Given the description of an element on the screen output the (x, y) to click on. 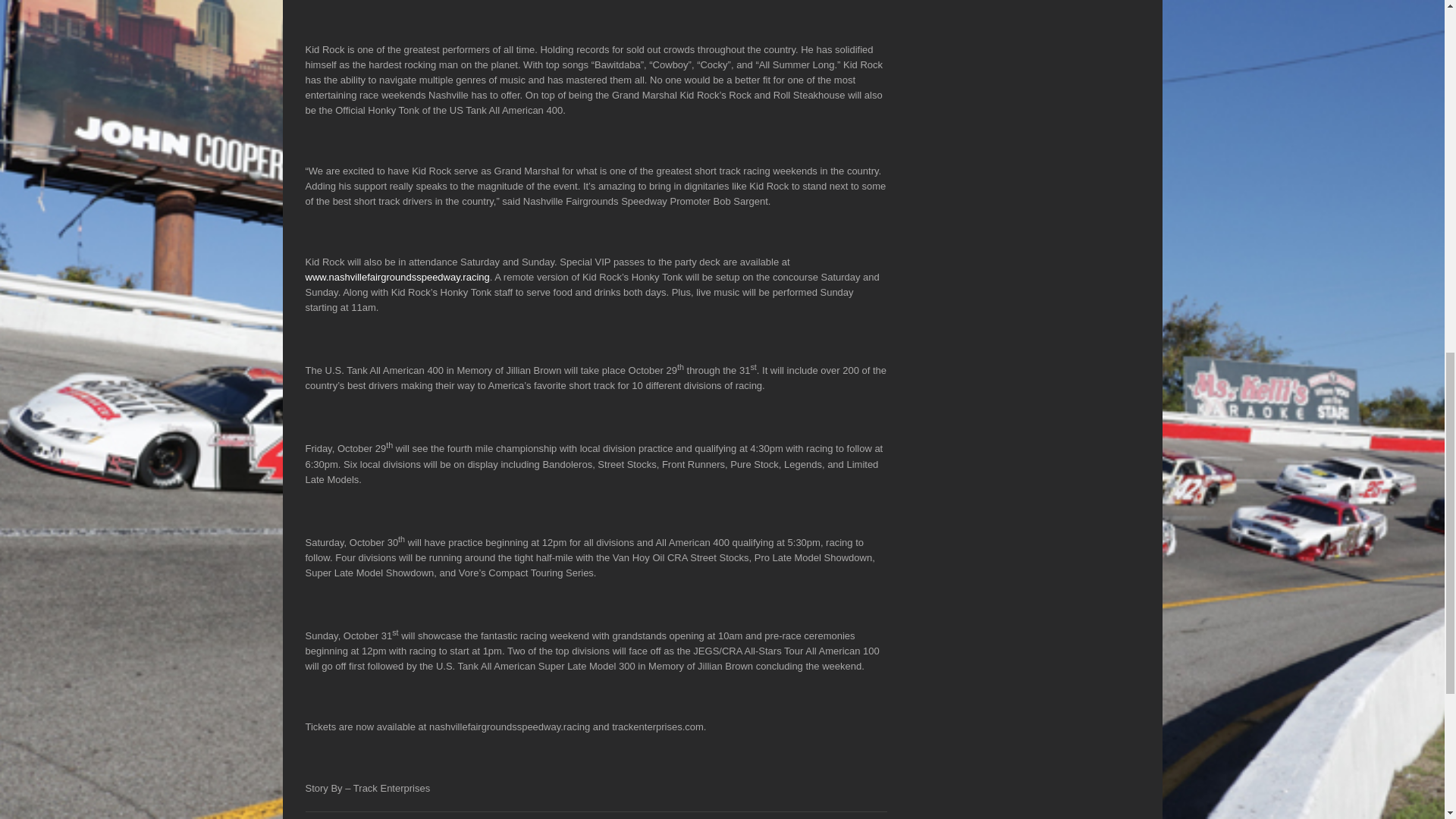
Posts by Scott Menlen (344, 818)
Scott Menlen (344, 818)
All American 400 (502, 818)
www.nashvillefairgroundsspeedway.racing (396, 276)
